Given the description of an element on the screen output the (x, y) to click on. 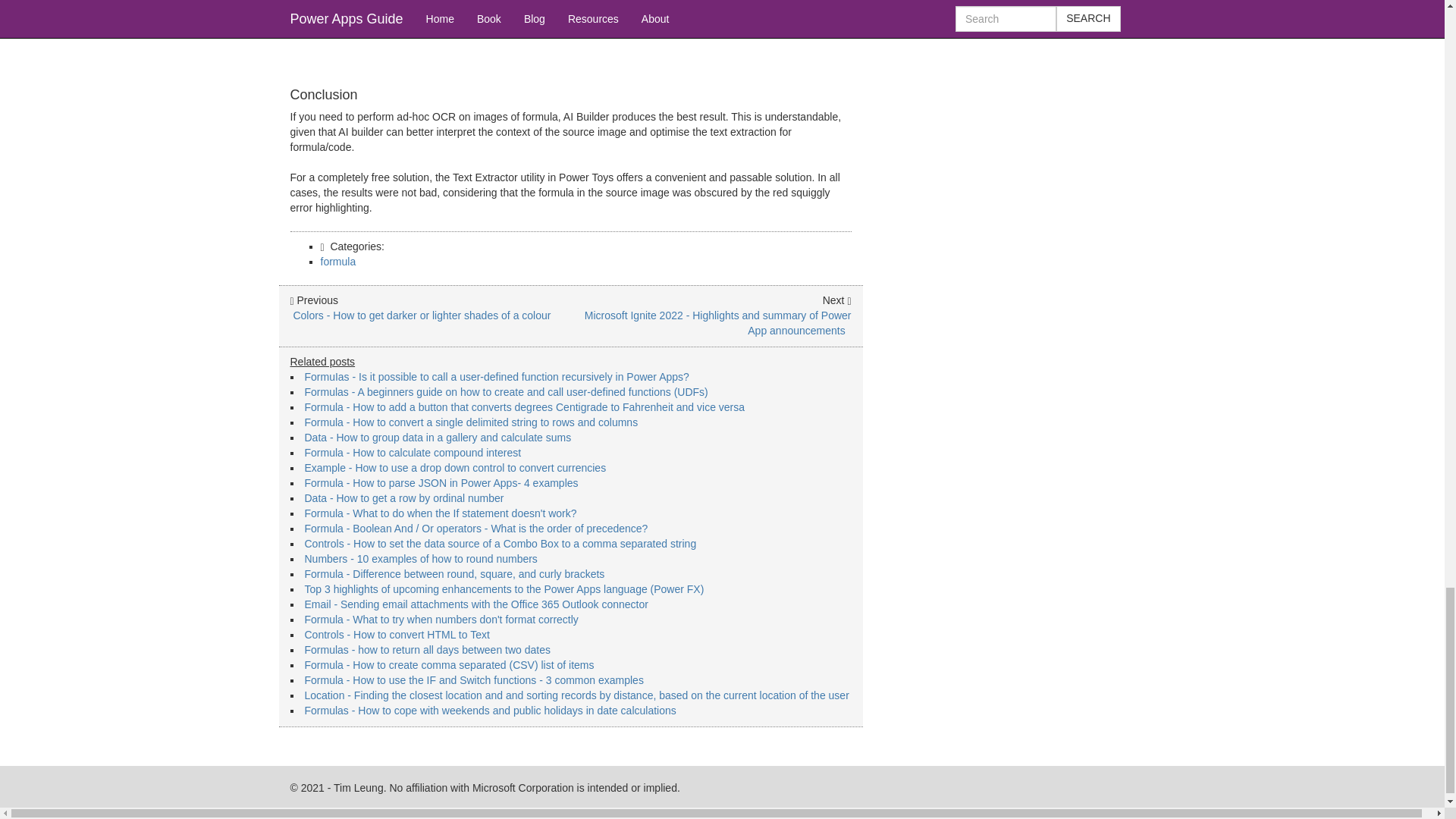
 Colors - How to get darker or lighter shades of a colour (419, 315)
Data - How to get a row by ordinal number (403, 498)
Formula - How to calculate compound interest (412, 452)
formula (337, 261)
Numbers - 10 examples of how to round numbers (420, 558)
